Given the description of an element on the screen output the (x, y) to click on. 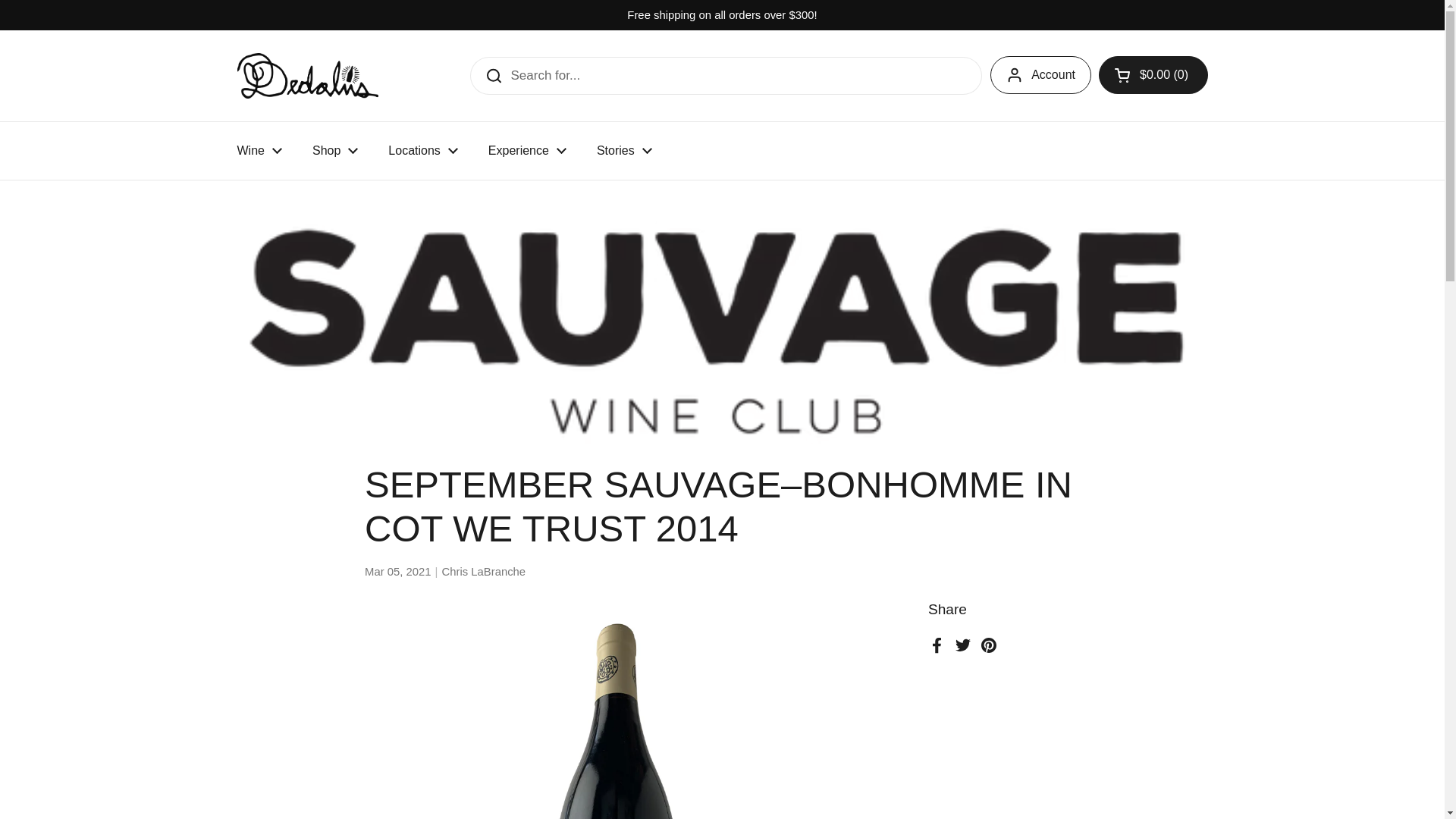
Open cart (1153, 75)
Wine (259, 150)
Account (1040, 75)
Dedalus Wine Shop (306, 75)
